Given the description of an element on the screen output the (x, y) to click on. 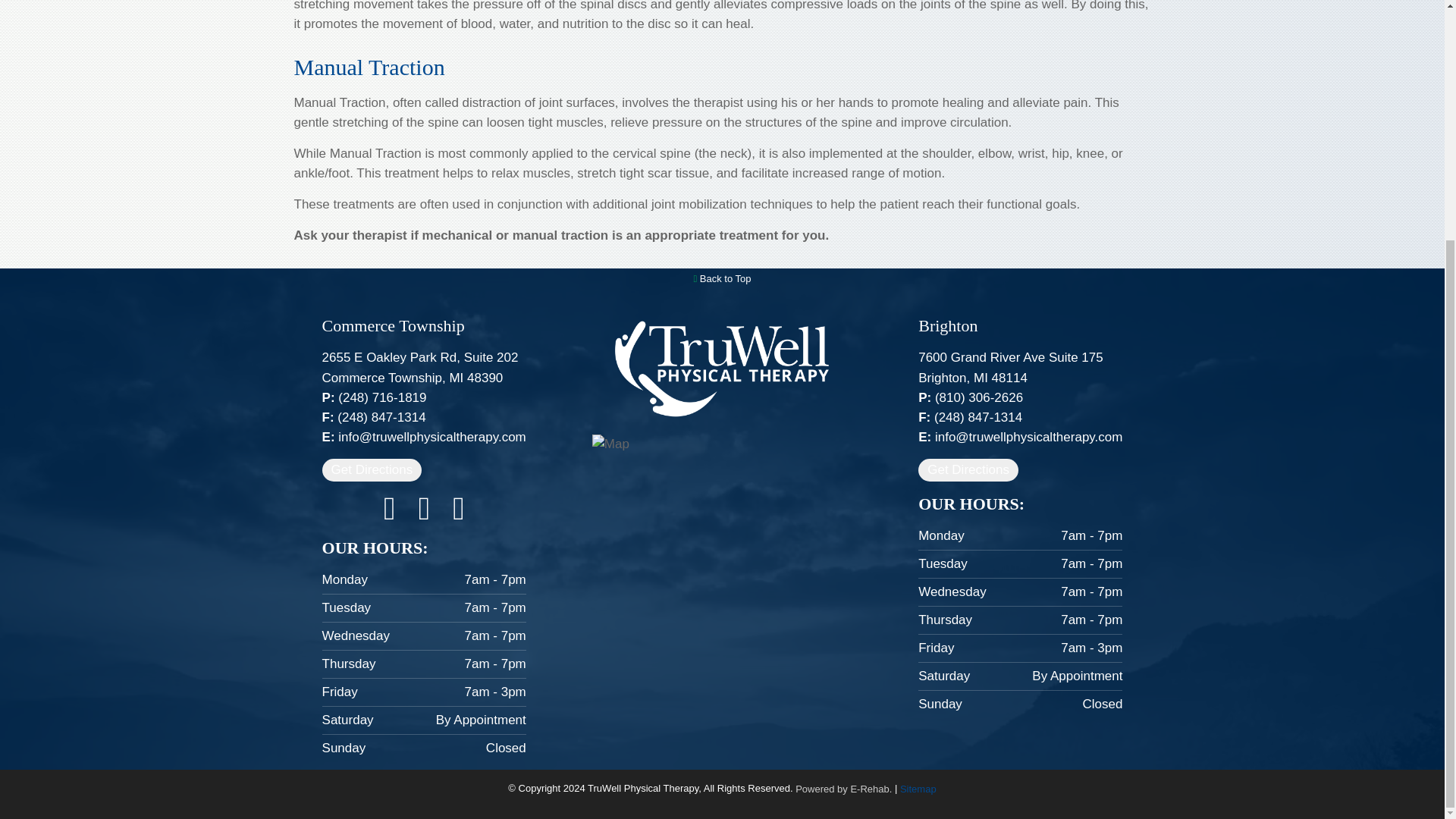
Back to Top (722, 278)
